Given the description of an element on the screen output the (x, y) to click on. 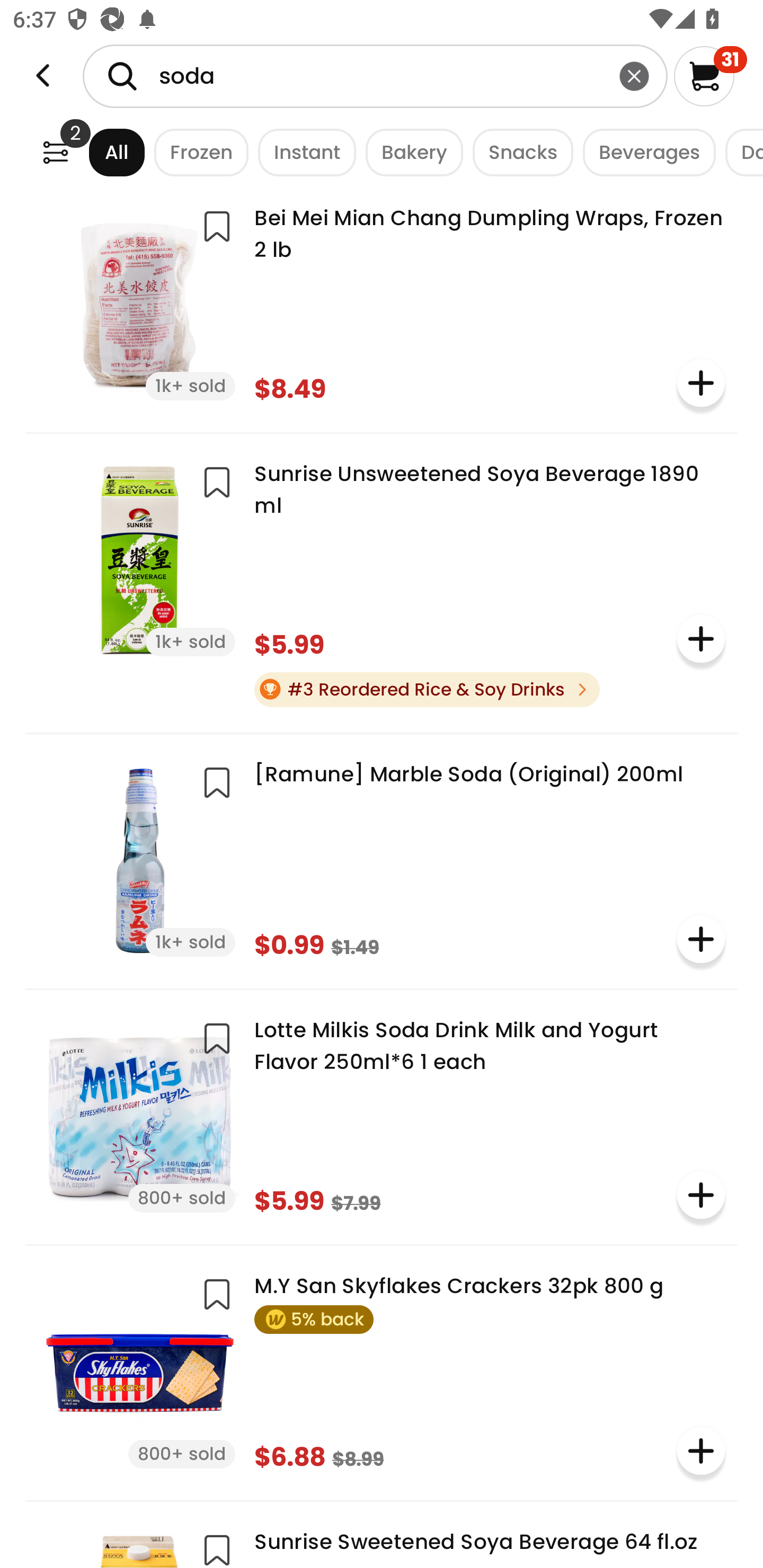
soda (374, 75)
31 (709, 75)
Weee! (42, 76)
Weee! (55, 151)
All (99, 151)
Frozen (196, 151)
Instant (302, 151)
Bakery (409, 151)
Snacks (518, 151)
Beverages (644, 151)
